Given the description of an element on the screen output the (x, y) to click on. 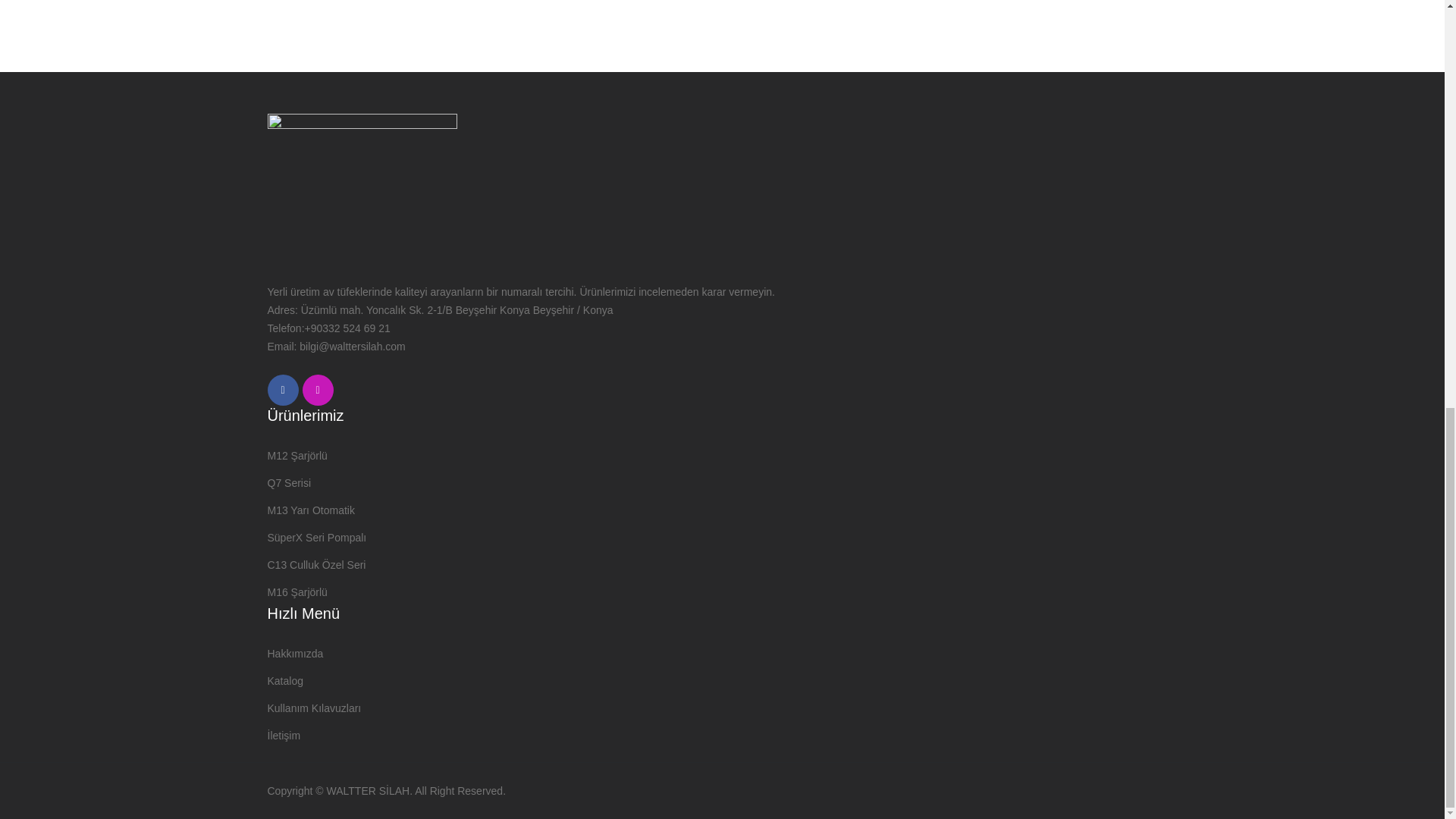
instagram (317, 389)
facebook (282, 389)
